Given the description of an element on the screen output the (x, y) to click on. 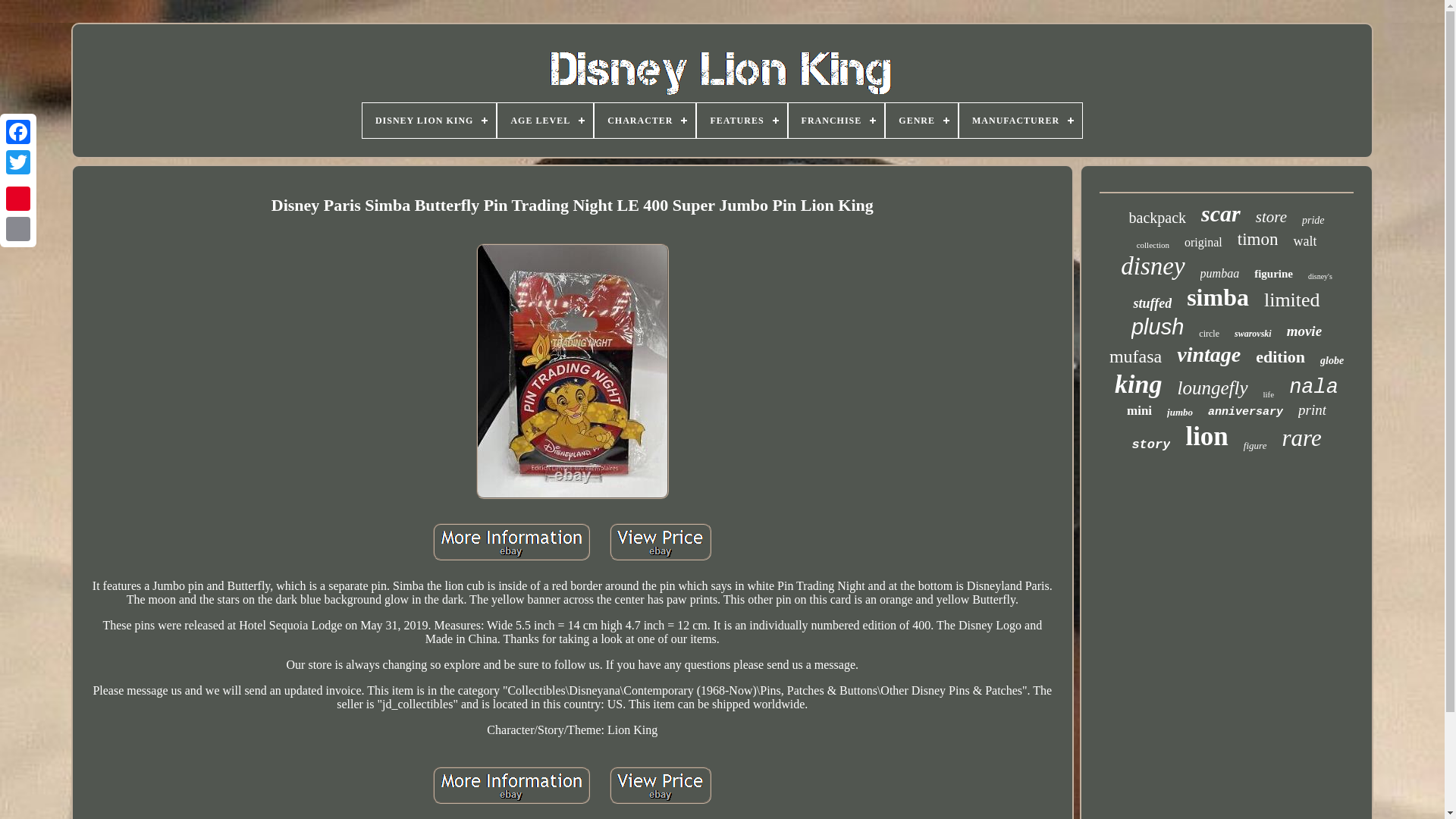
CHARACTER (644, 120)
AGE LEVEL (544, 120)
DISNEY LION KING (429, 120)
